Given the description of an element on the screen output the (x, y) to click on. 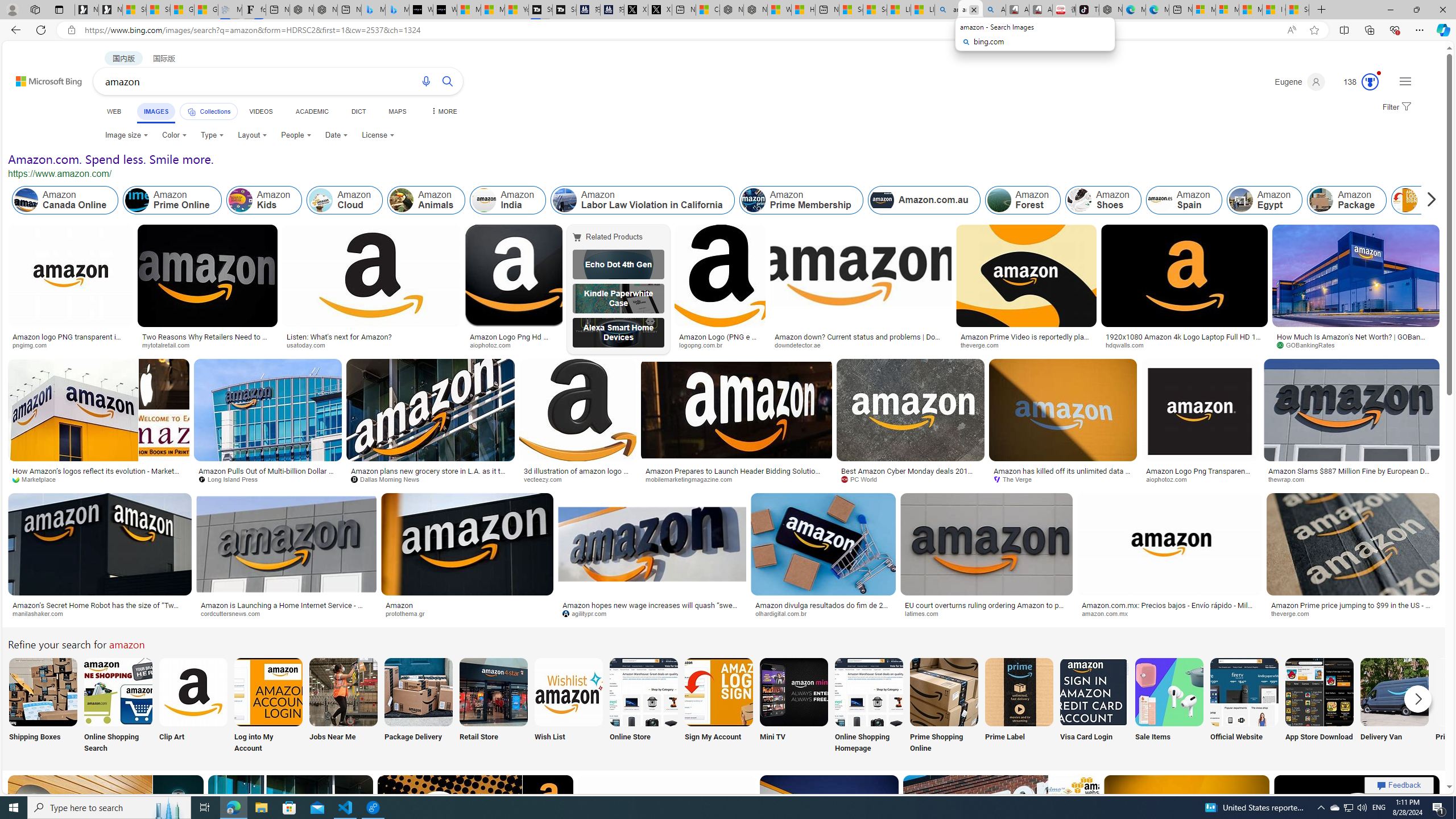
Microsoft Bing Travel - Stays in Bangkok, Bangkok, Thailand (373, 9)
Amazon Online Store (644, 691)
Amazon Egypt (1265, 199)
License (378, 135)
Wish List (568, 706)
People (295, 135)
Amazon Online Shopping Homepage Online Shopping Homepage (868, 706)
